Given the description of an element on the screen output the (x, y) to click on. 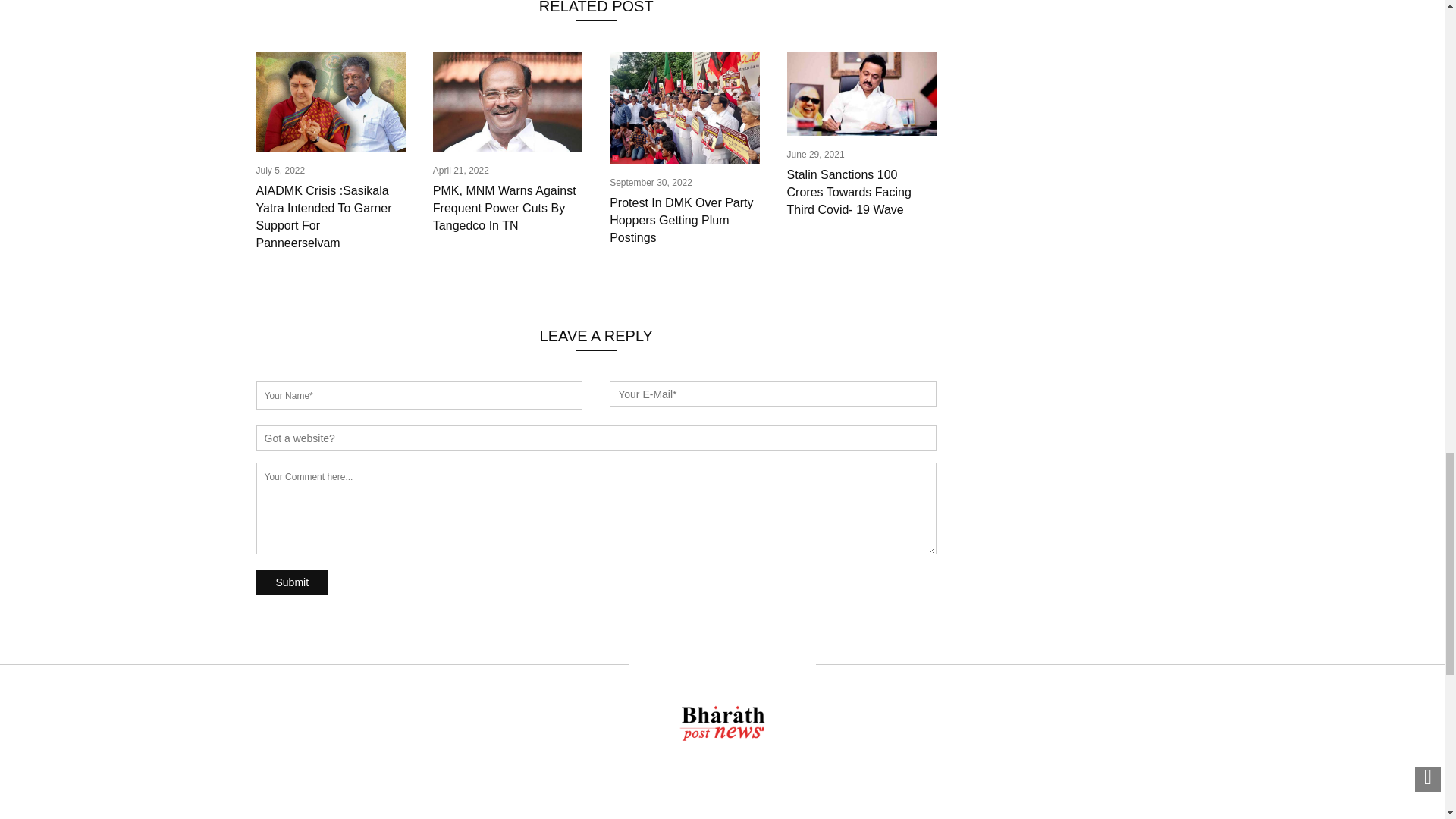
PMK, MNM Warns Against Frequent Power Cuts By Tangedco In TN (504, 207)
Submit (292, 582)
